Given the description of an element on the screen output the (x, y) to click on. 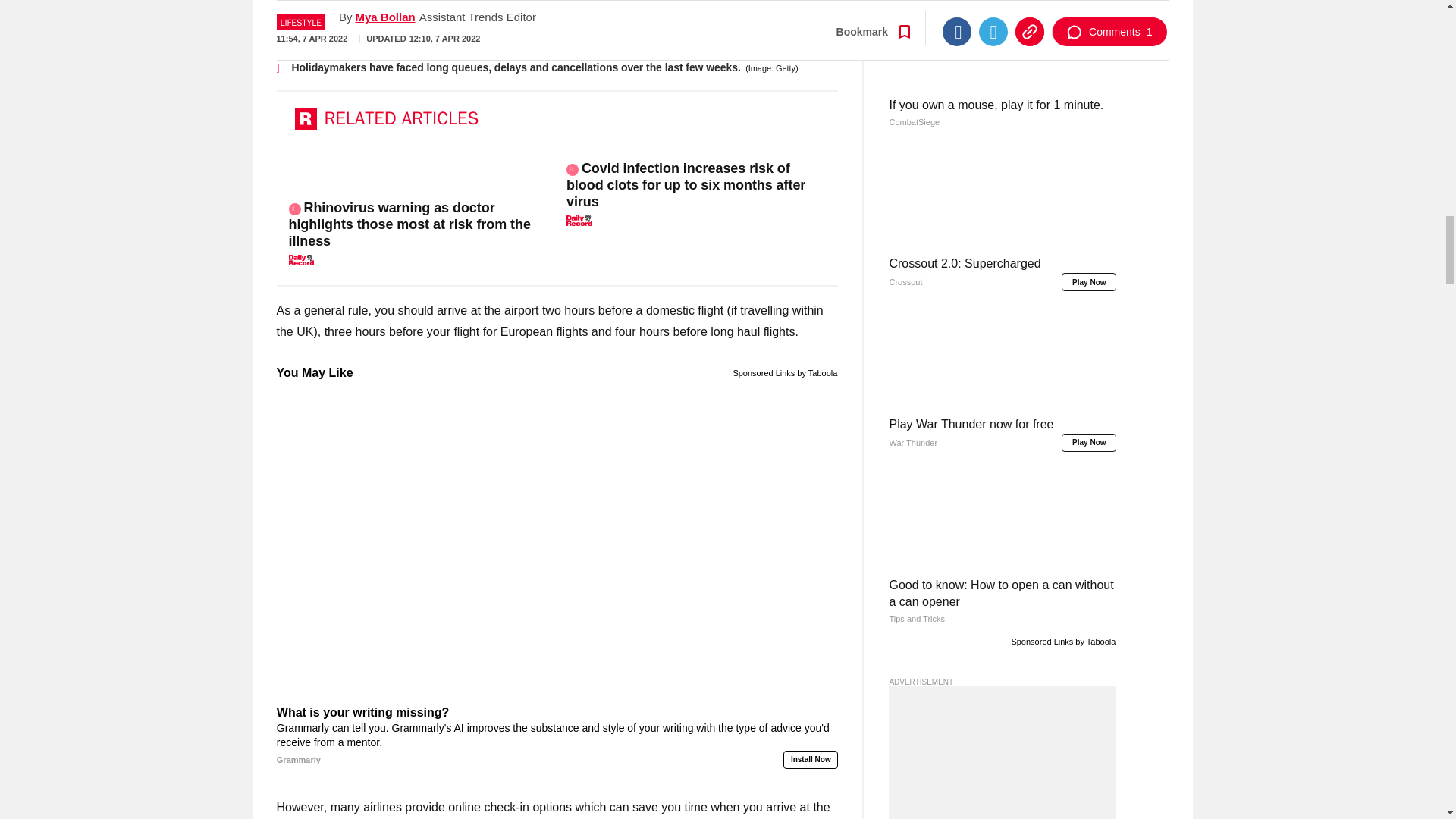
What is your writing missing? (557, 736)
